Given the description of an element on the screen output the (x, y) to click on. 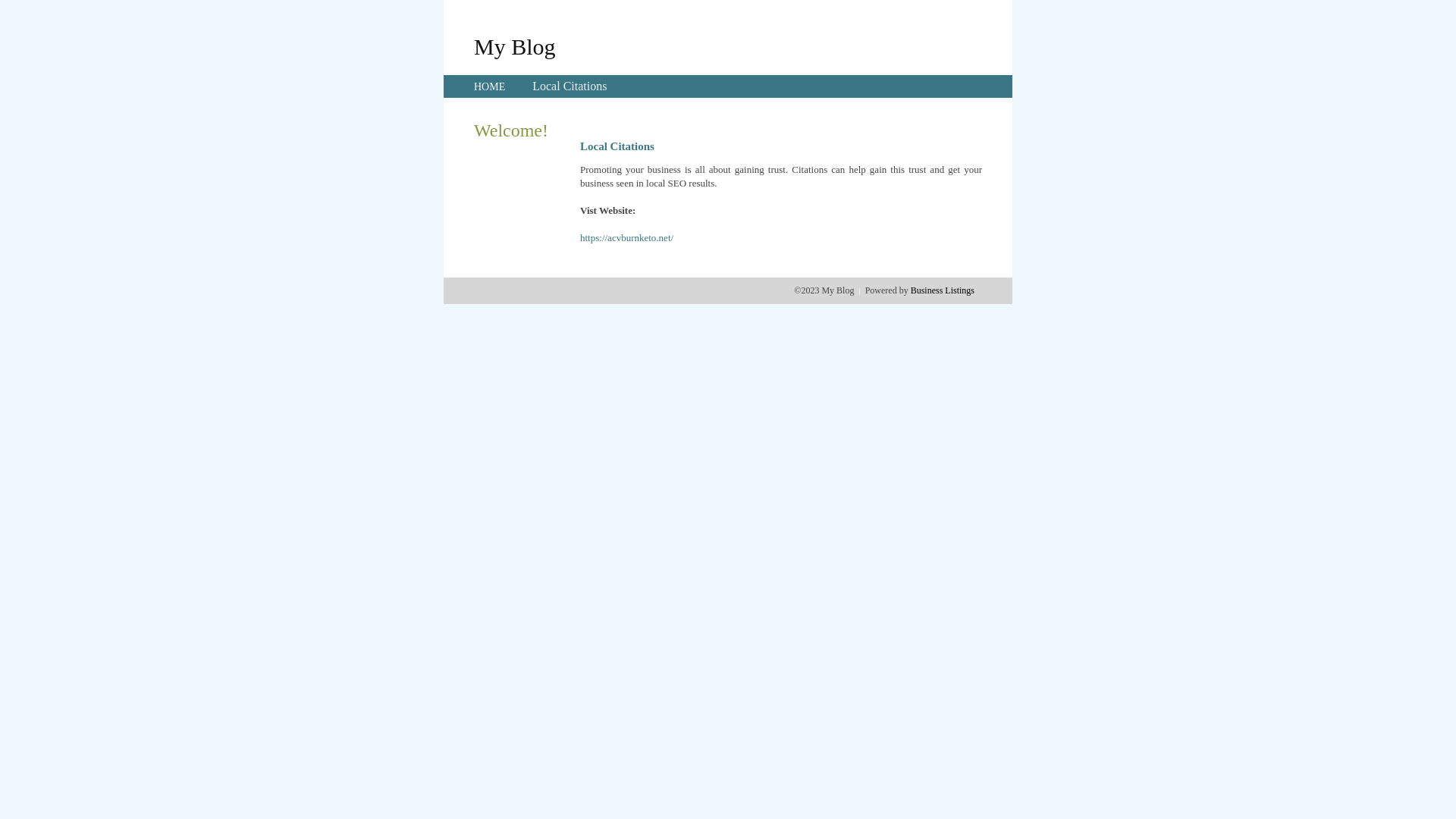
Local Citations Element type: text (569, 85)
My Blog Element type: text (514, 46)
HOME Element type: text (489, 86)
https://acvburnketo.net/ Element type: text (626, 237)
Business Listings Element type: text (942, 290)
